Given the description of an element on the screen output the (x, y) to click on. 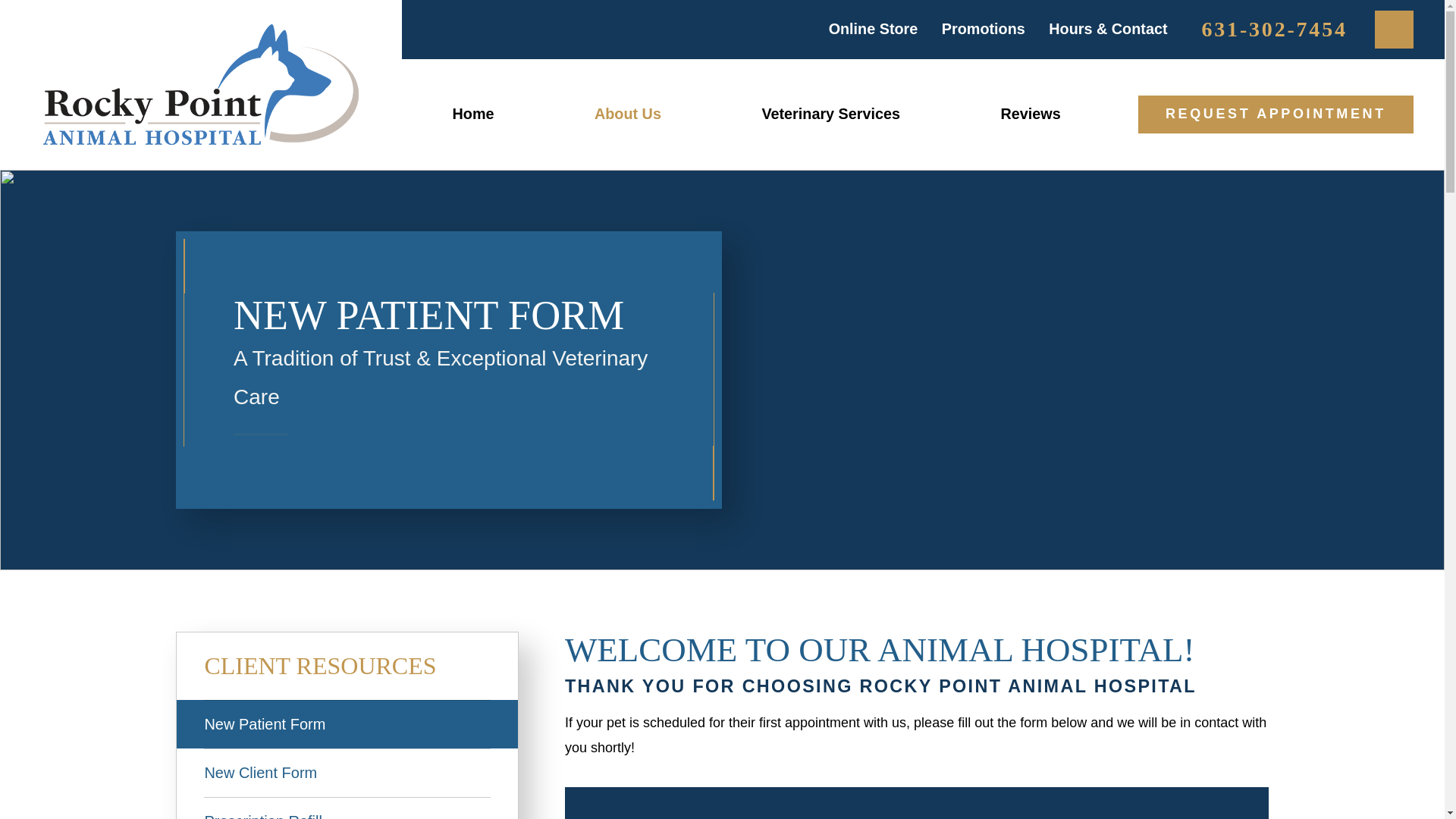
Search Icon (1393, 29)
Reviews (1030, 113)
REQUEST APPOINTMENT (1275, 114)
Rocky Point Animal Hospital (200, 84)
Online Store (873, 28)
About Us (627, 113)
631-302-7454 (1275, 29)
Home (472, 113)
Promotions (983, 28)
Search Our Site (1393, 29)
